Given the description of an element on the screen output the (x, y) to click on. 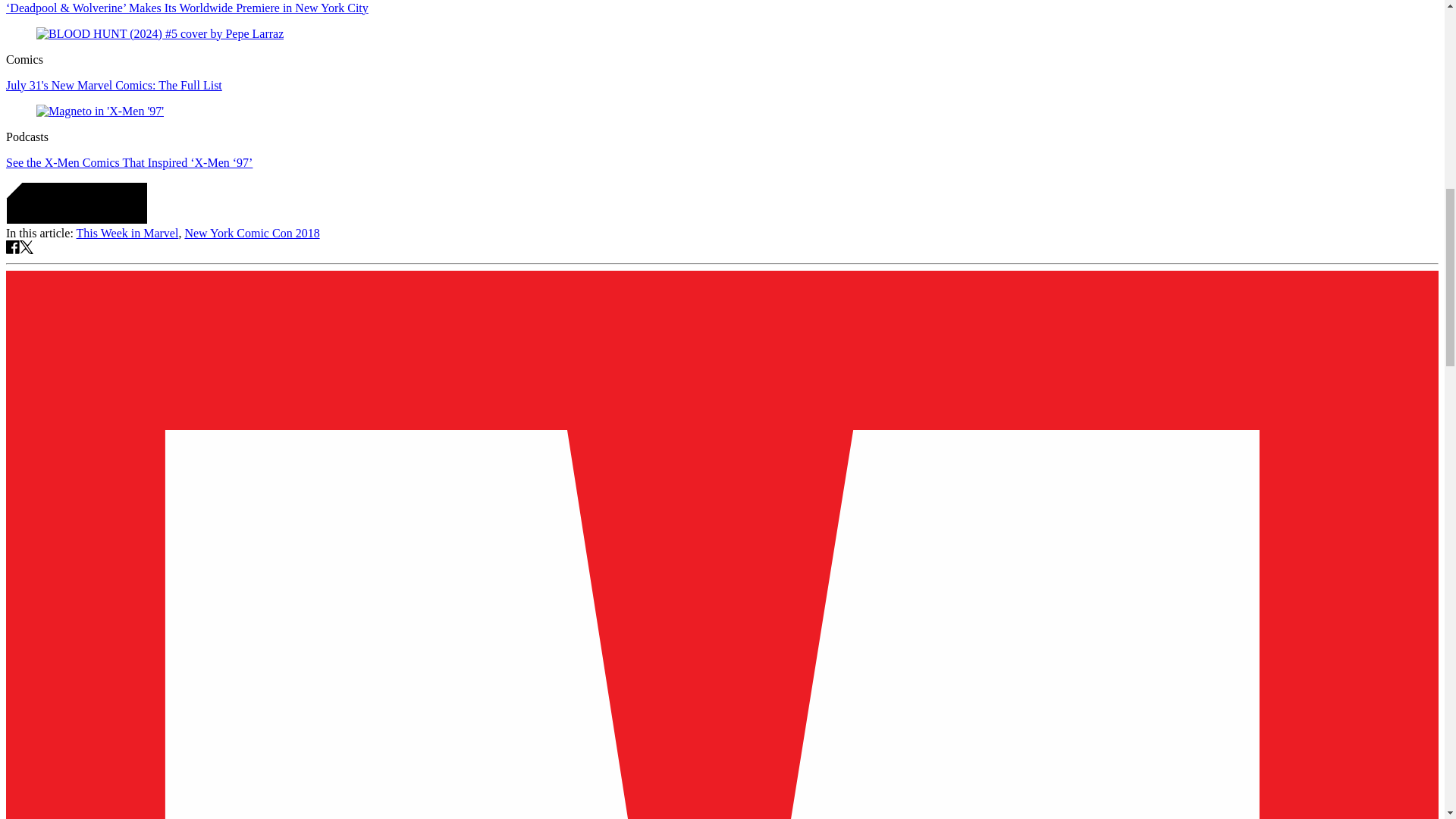
New York Comic Con 2018 (251, 232)
This Week in Marvel (128, 232)
July 31's New Marvel Comics: The Full List (113, 84)
